Given the description of an element on the screen output the (x, y) to click on. 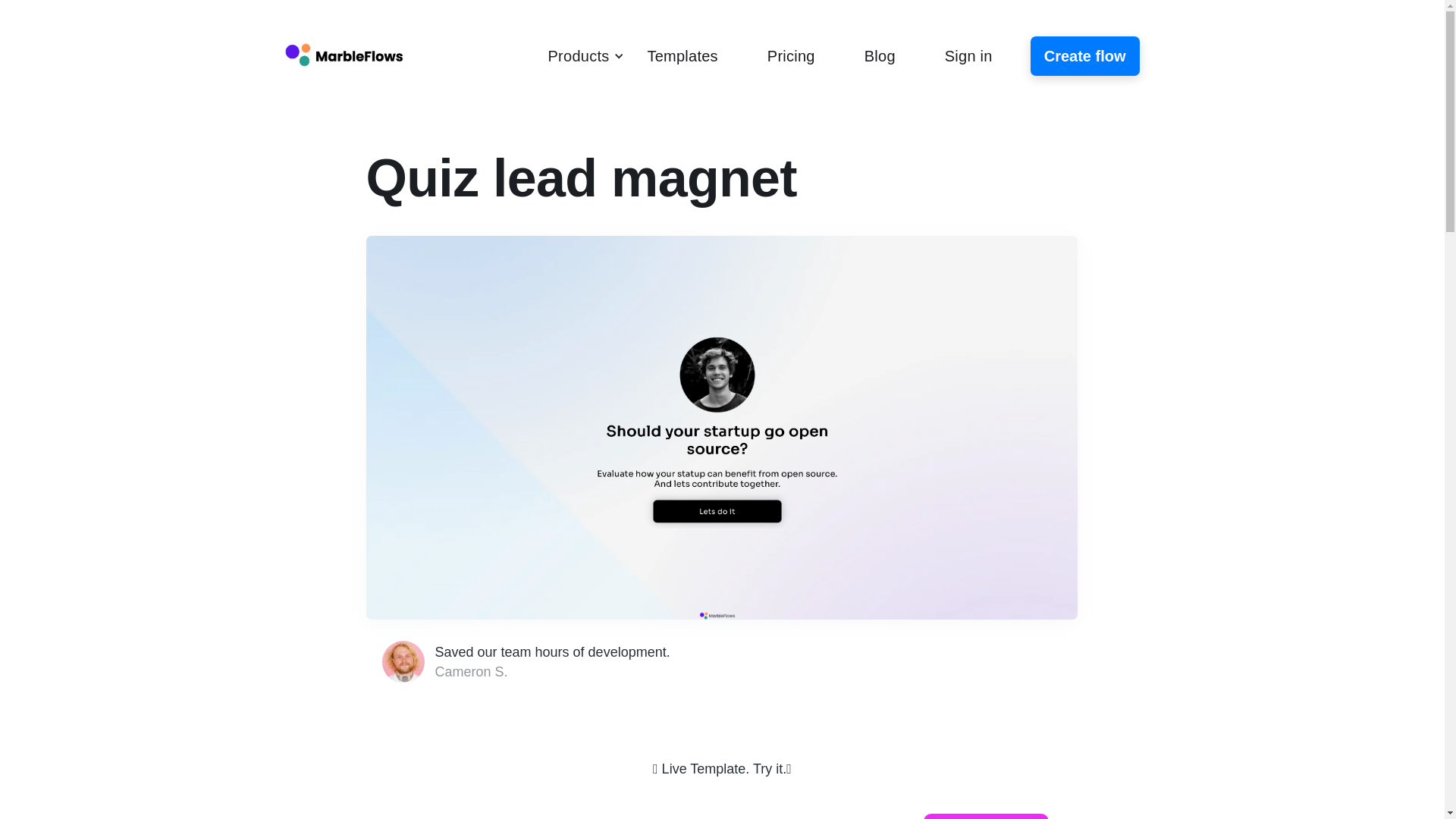
Pricing (791, 55)
Blog (879, 55)
Templates (682, 55)
Sign in (968, 55)
Create flow (1085, 56)
